Given the description of an element on the screen output the (x, y) to click on. 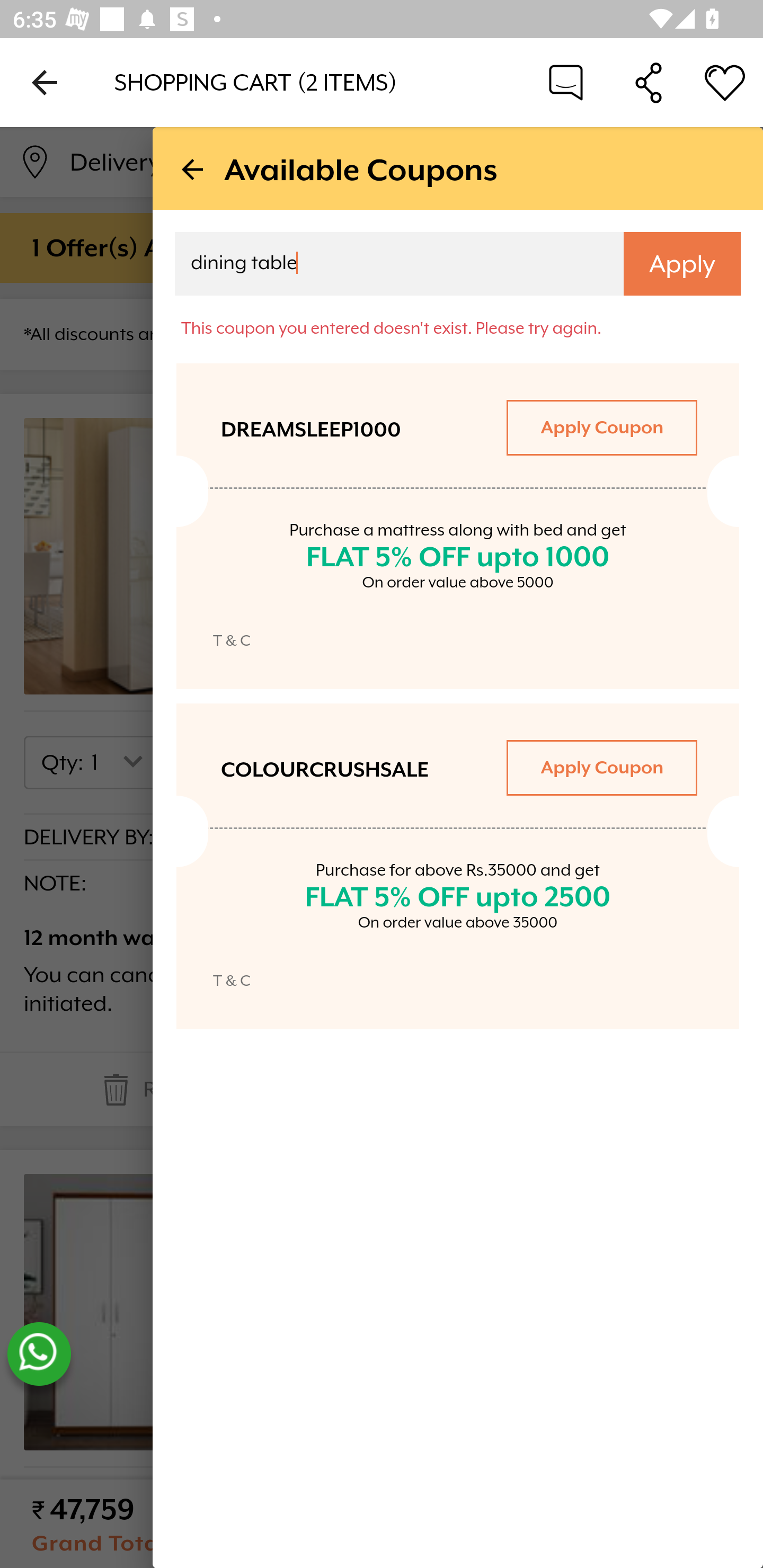
Navigate up (44, 82)
Chat (565, 81)
Share Cart (648, 81)
Wishlist (724, 81)
Apply (681, 264)
dining table (386, 266)
Apply Coupon (601, 427)
T & C (231, 640)
Apply Coupon (601, 767)
T & C (231, 979)
whatsapp (38, 1353)
